Given the description of an element on the screen output the (x, y) to click on. 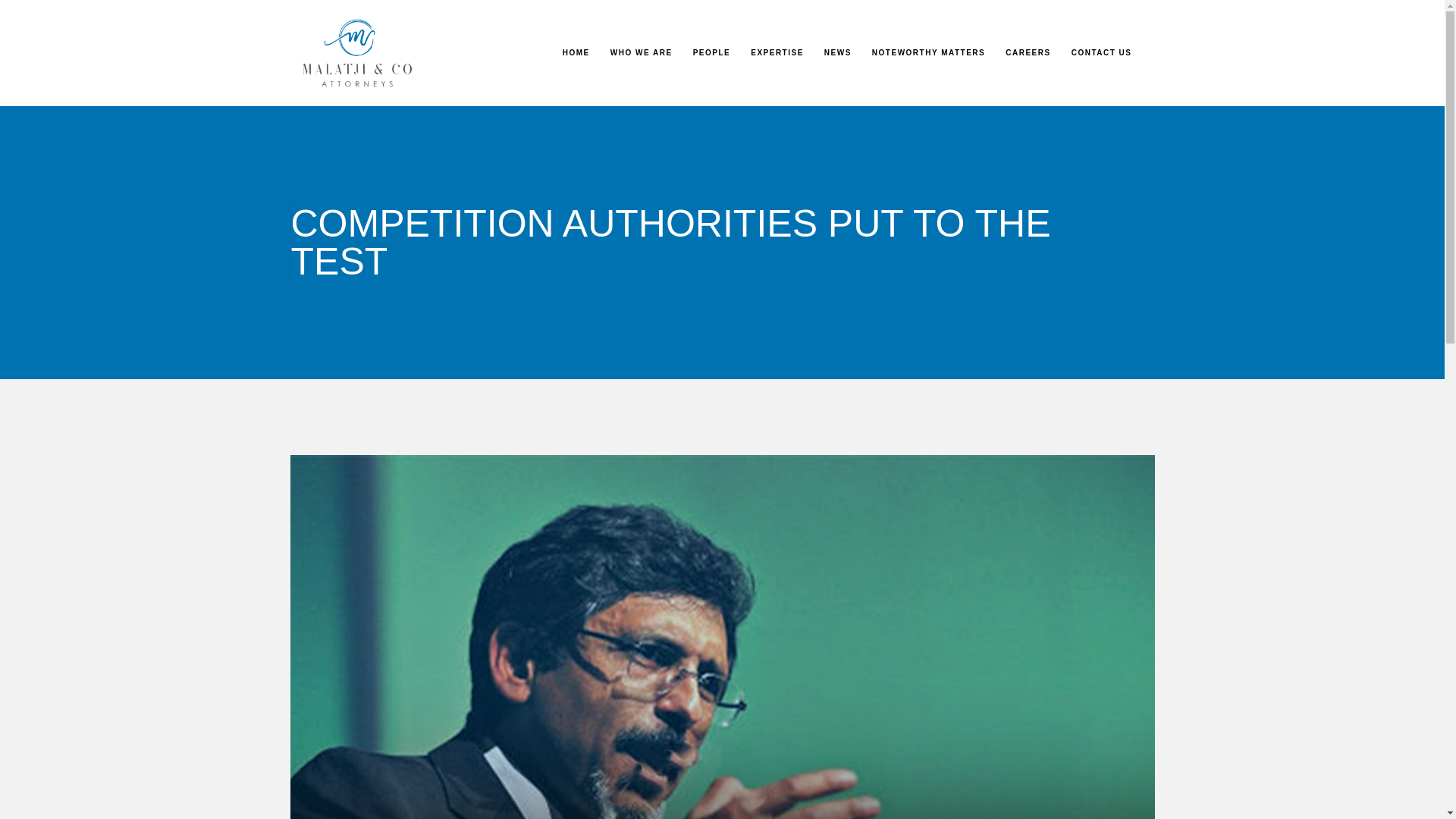
WHO WE ARE (641, 52)
NOTEWORTHY MATTERS (928, 52)
EXPERTISE (776, 52)
CONTACT US (1102, 52)
